Given the description of an element on the screen output the (x, y) to click on. 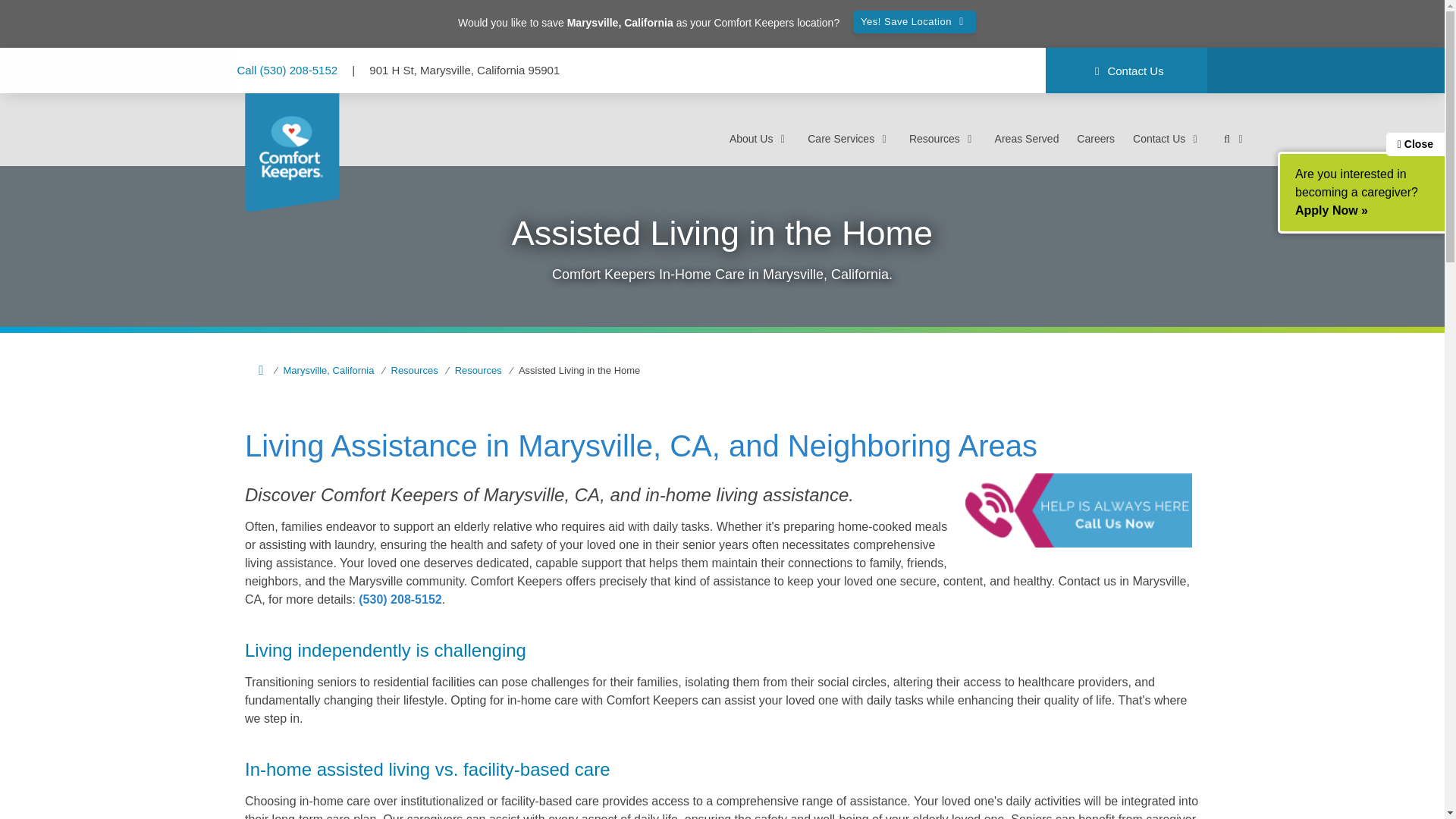
Marysville, California (321, 369)
Assisted Living in the Home (572, 369)
Contact Us (1167, 138)
Resources (407, 369)
Resources (471, 369)
Care Services (849, 138)
Areas Served (1026, 138)
Contact Us (1126, 71)
Contact Us (1126, 71)
Resources (942, 138)
